Given the description of an element on the screen output the (x, y) to click on. 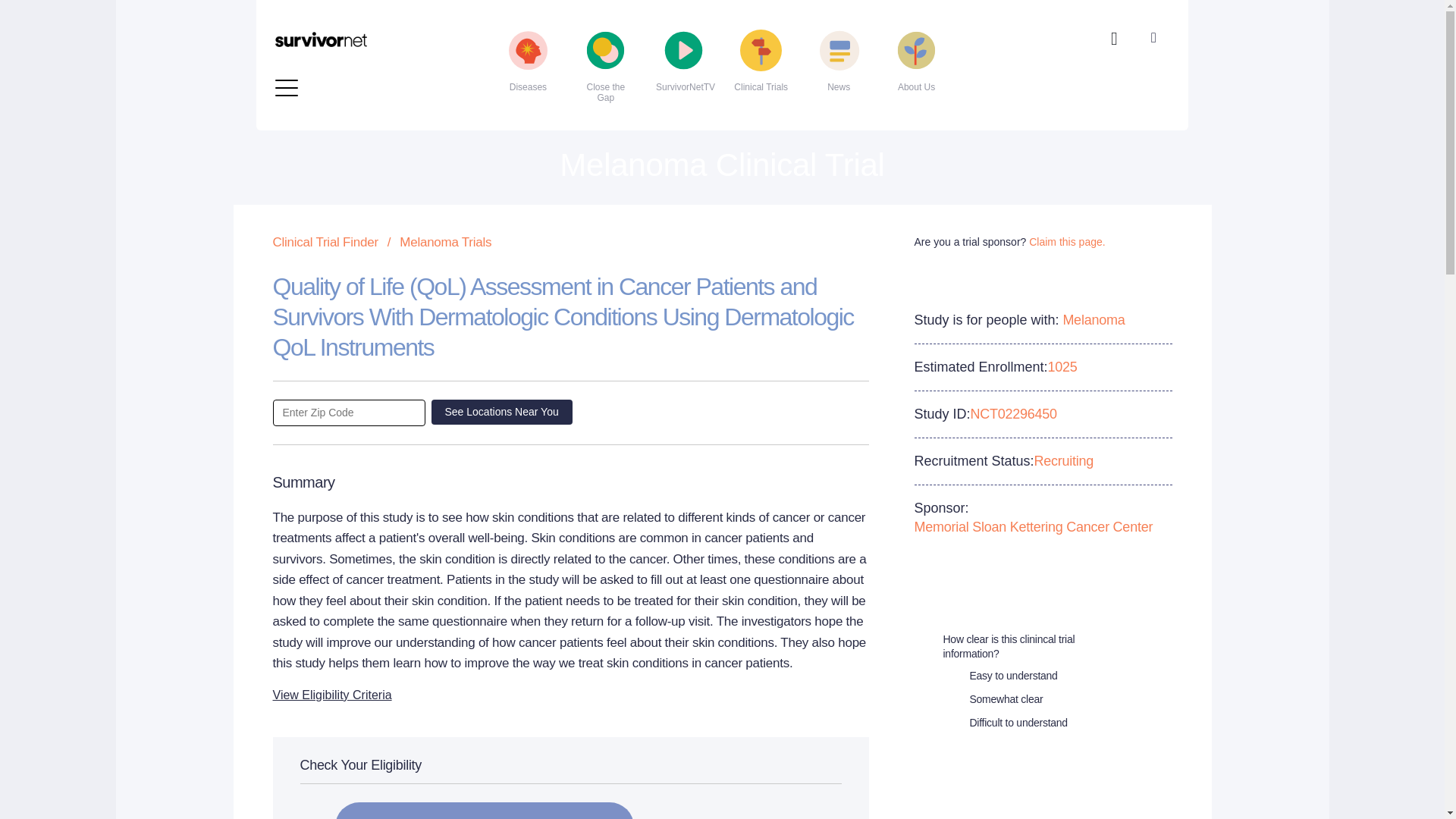
Ovarian Cancer (661, 7)
Liver Cancer (364, 78)
Heart Failure (364, 28)
Psoriasis (661, 52)
Prostate Cancer (661, 28)
Esophageal Cancer (364, 7)
